Given the description of an element on the screen output the (x, y) to click on. 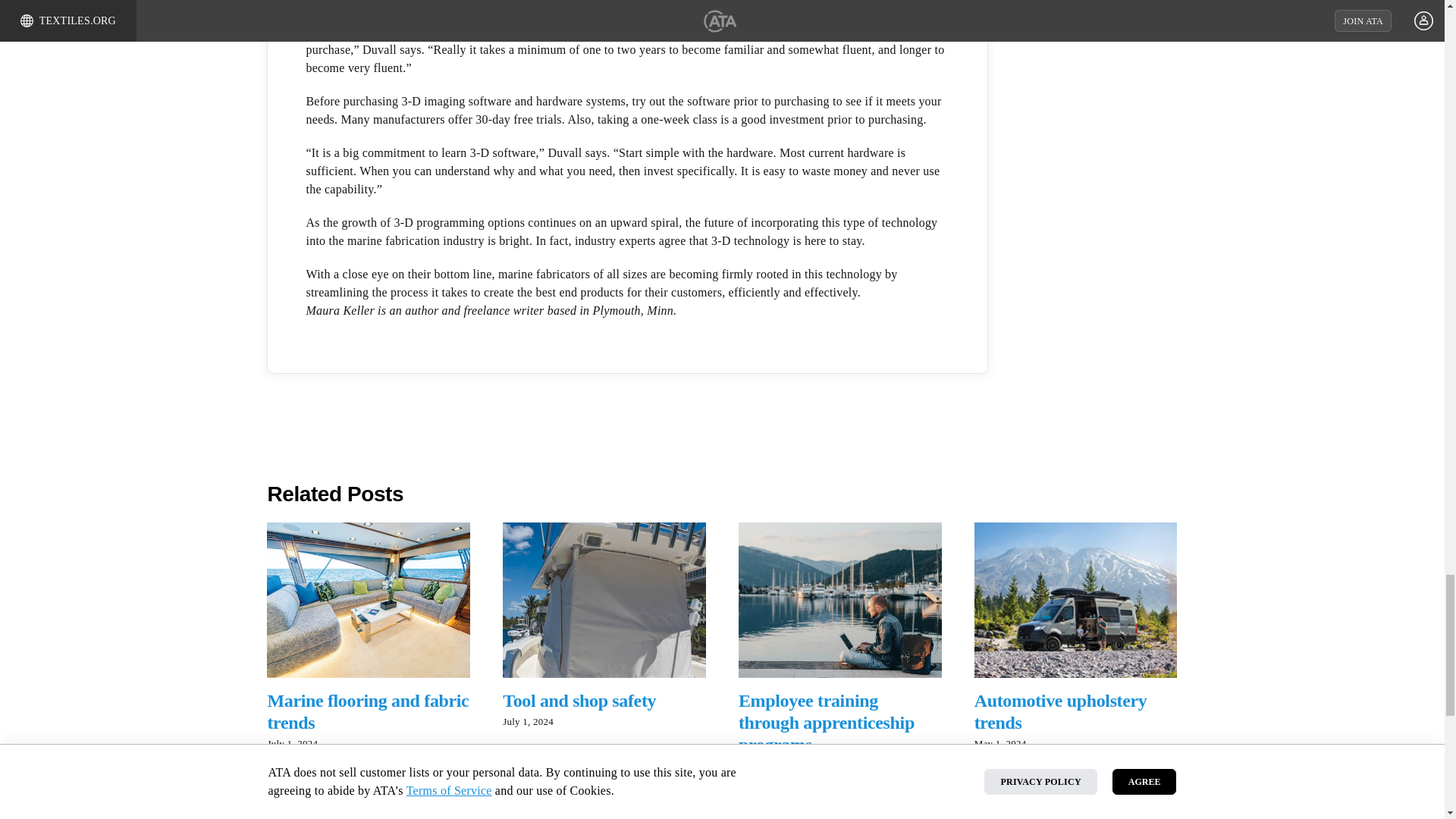
Tool and shop safety (579, 700)
Automotive upholstery trends (1060, 711)
Marine flooring and fabric trends (367, 711)
Employee training through apprenticeship programs (826, 722)
